Given the description of an element on the screen output the (x, y) to click on. 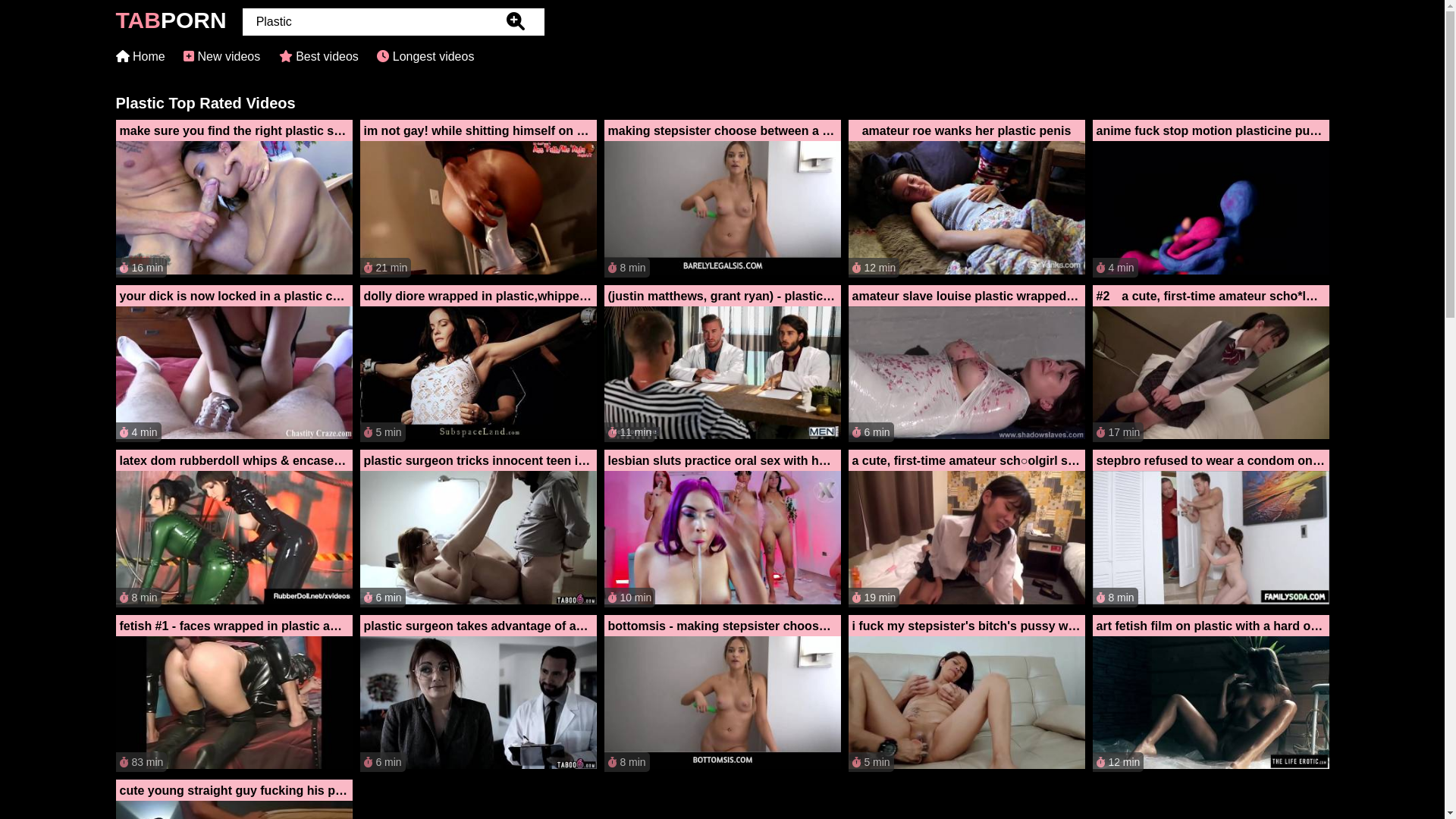
12 min
amateur roe wanks her plastic penis Element type: text (965, 198)
Best videos Element type: text (318, 56)
6 min
plastic surgeon takes advantage of an innocent teen Element type: text (477, 692)
Home Element type: text (139, 56)
TABPORN Element type: text (170, 24)
12 min
art fetish film on plastic with a hard orgasm Element type: text (1210, 692)
16 min
make sure you find the right plastic surgeon! Element type: text (233, 198)
6 min
plastic surgeon tricks innocent teen into fucking him Element type: text (477, 528)
4 min
your dick is now locked in a plastic cage Element type: text (233, 363)
New videos Element type: text (221, 56)
4 min
anime fuck stop motion plasticine puppets sex Element type: text (1210, 198)
Longest videos Element type: text (424, 56)
